Given the description of an element on the screen output the (x, y) to click on. 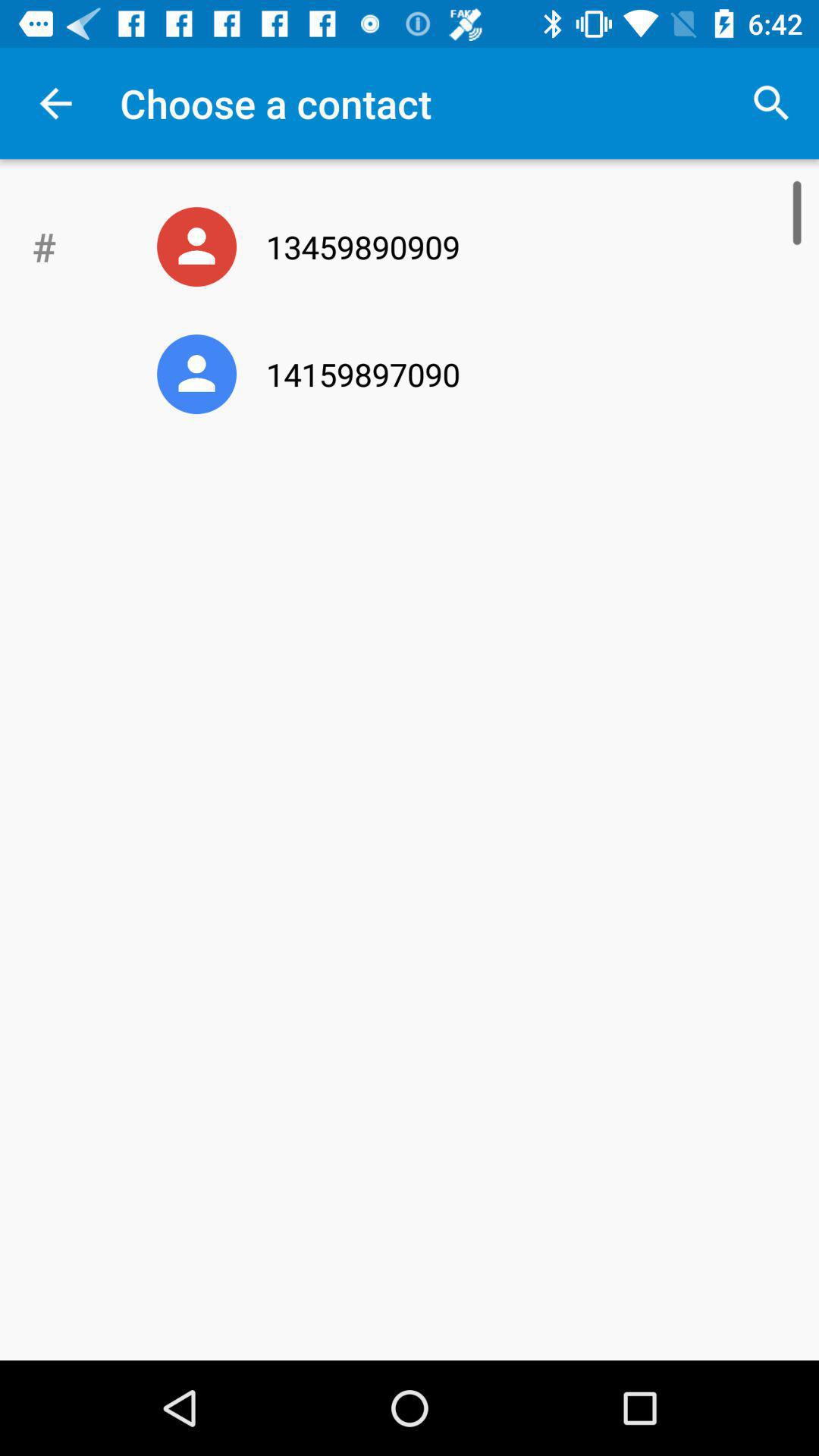
launch the icon next to the choose a contact app (771, 103)
